Given the description of an element on the screen output the (x, y) to click on. 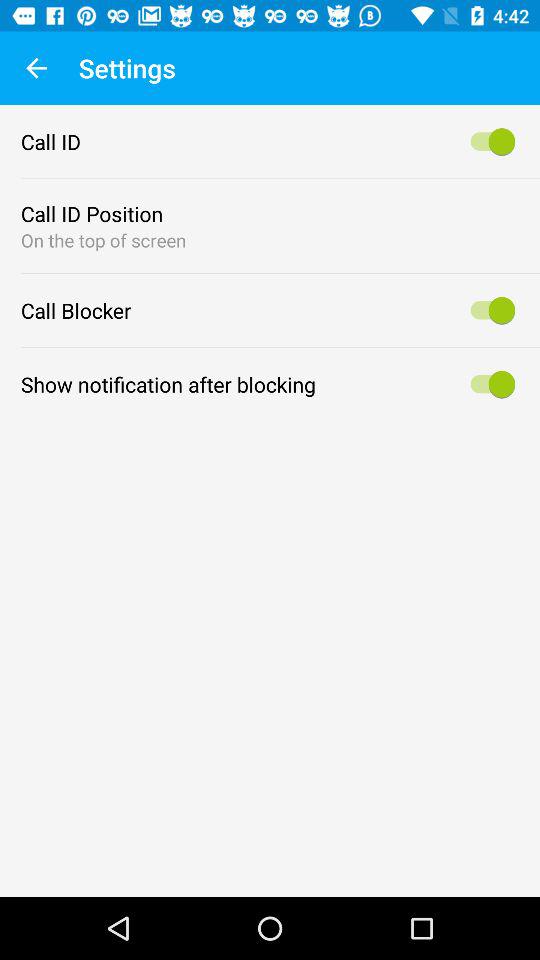
switch on/off notifications (489, 383)
